Given the description of an element on the screen output the (x, y) to click on. 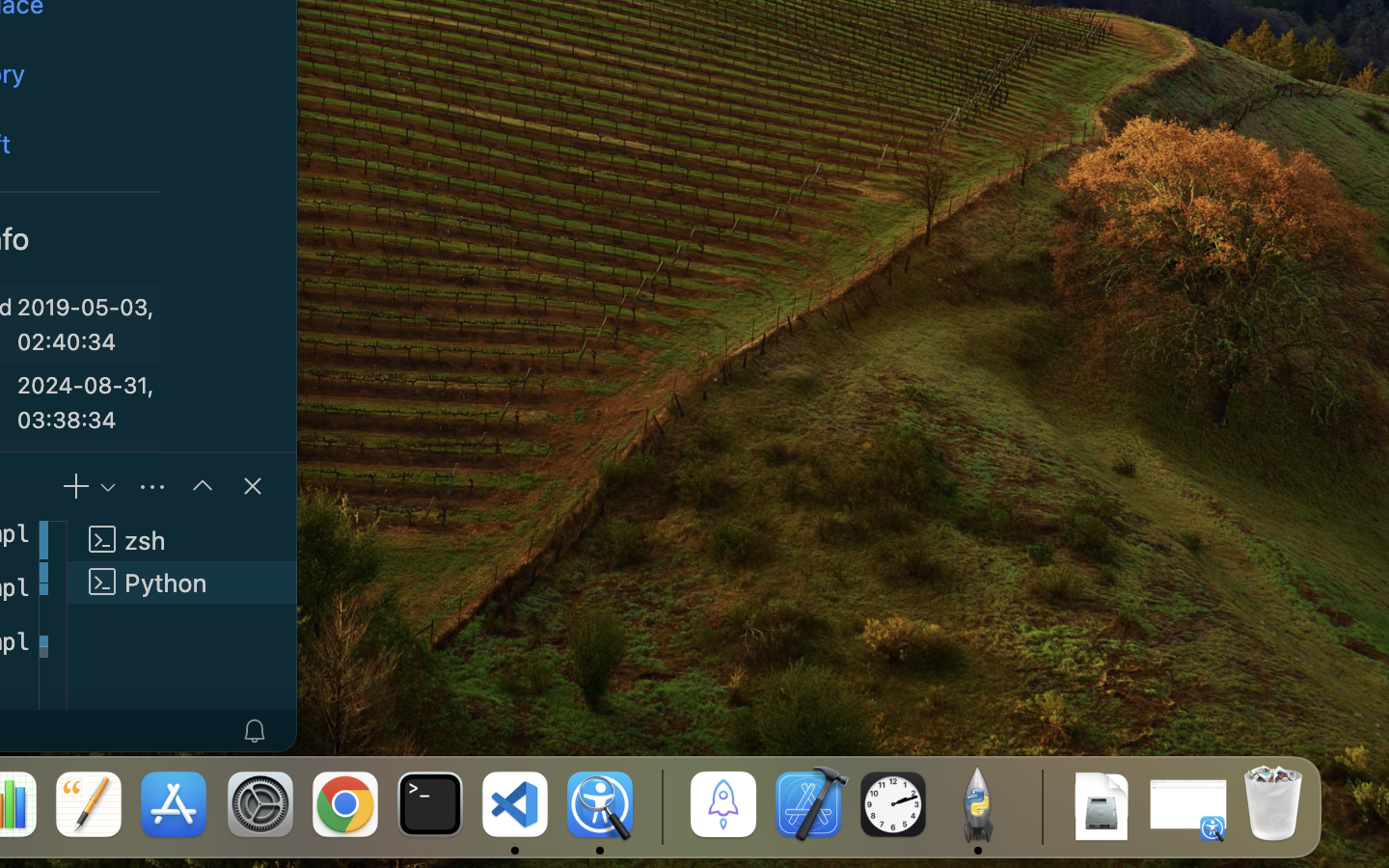
zsh  Element type: AXGroup (182, 539)
0.4285714328289032 Element type: AXDockItem (660, 805)
 Element type: AXButton (252, 485)
 Element type: AXCheckBox (202, 485)
2024-08-31, 03:38:34 Element type: AXStaticText (85, 402)
